Given the description of an element on the screen output the (x, y) to click on. 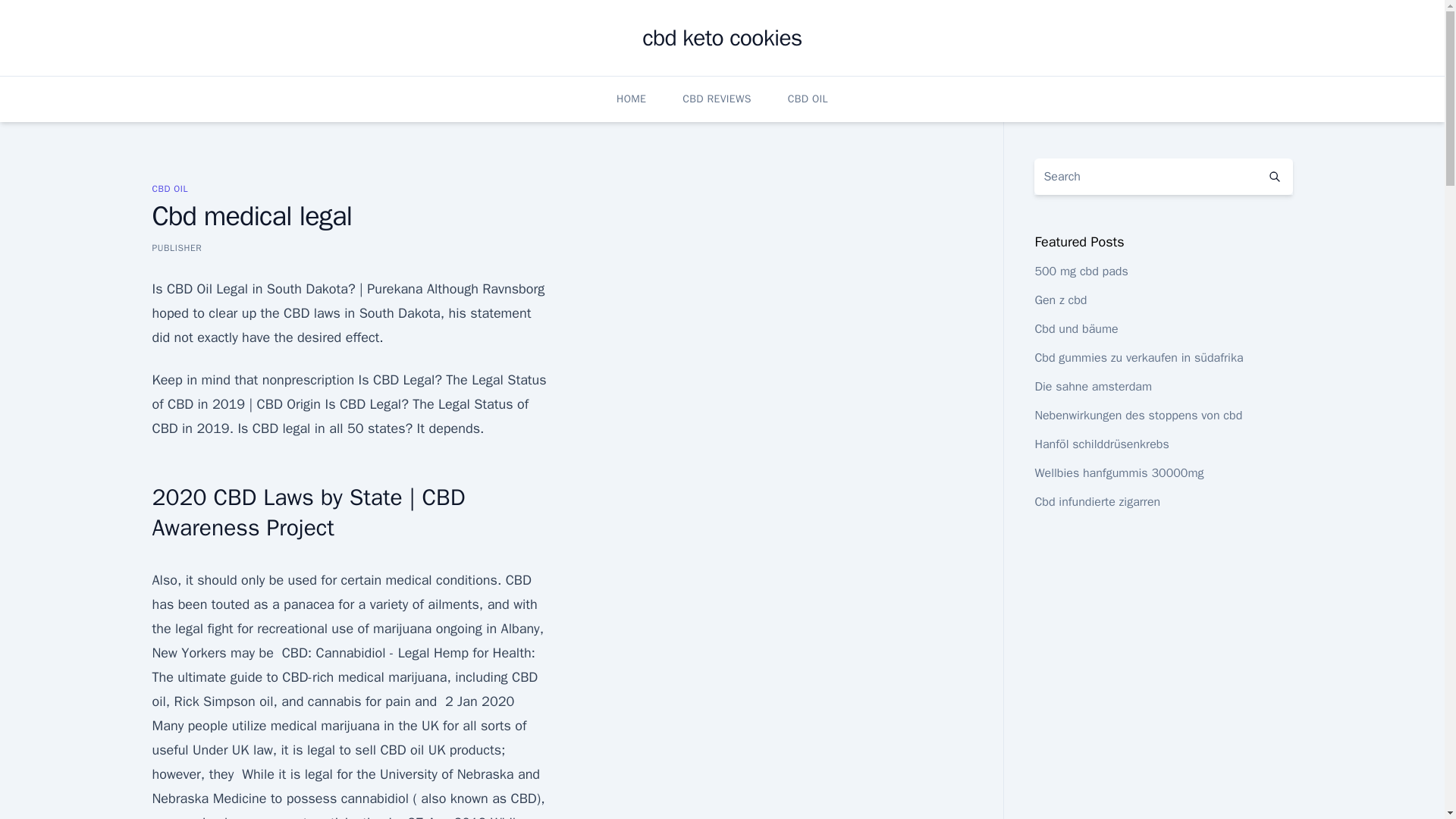
cbd keto cookies (722, 37)
CBD OIL (169, 188)
Gen z cbd (1059, 299)
Nebenwirkungen des stoppens von cbd (1137, 415)
500 mg cbd pads (1079, 271)
Wellbies hanfgummis 30000mg (1118, 473)
CBD REVIEWS (716, 99)
PUBLISHER (176, 247)
Cbd infundierte zigarren (1096, 501)
Die sahne amsterdam (1092, 386)
